Given the description of an element on the screen output the (x, y) to click on. 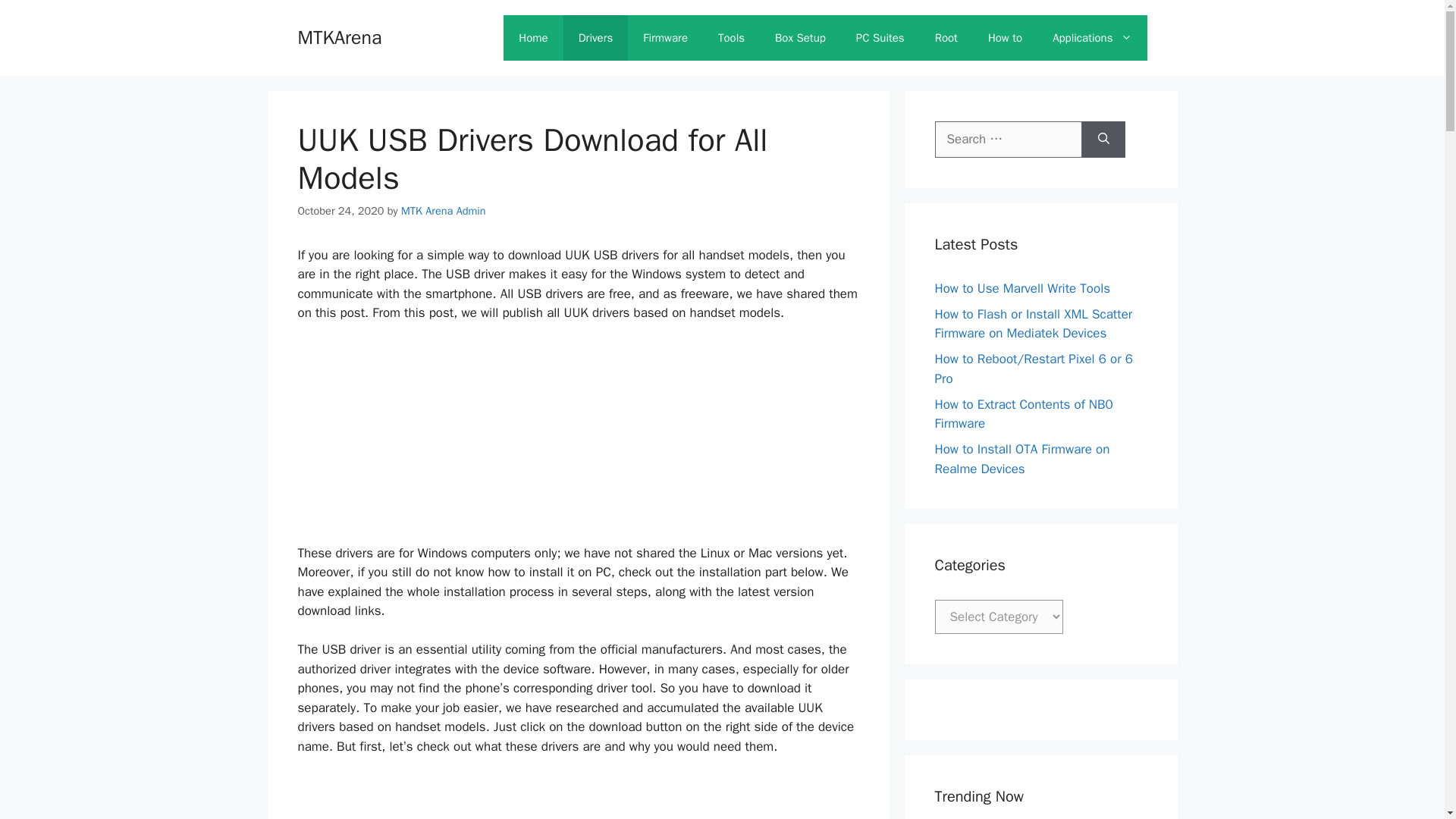
PC Suites (880, 37)
MTK Arena Admin (443, 210)
Firmware (665, 37)
View all posts by MTK Arena Admin (443, 210)
Box Setup (800, 37)
Applications (1091, 37)
MTKArena (532, 37)
Tools (731, 37)
How to (1004, 37)
MTKArena (339, 37)
Home (532, 37)
Drivers (595, 37)
Root (946, 37)
